Given the description of an element on the screen output the (x, y) to click on. 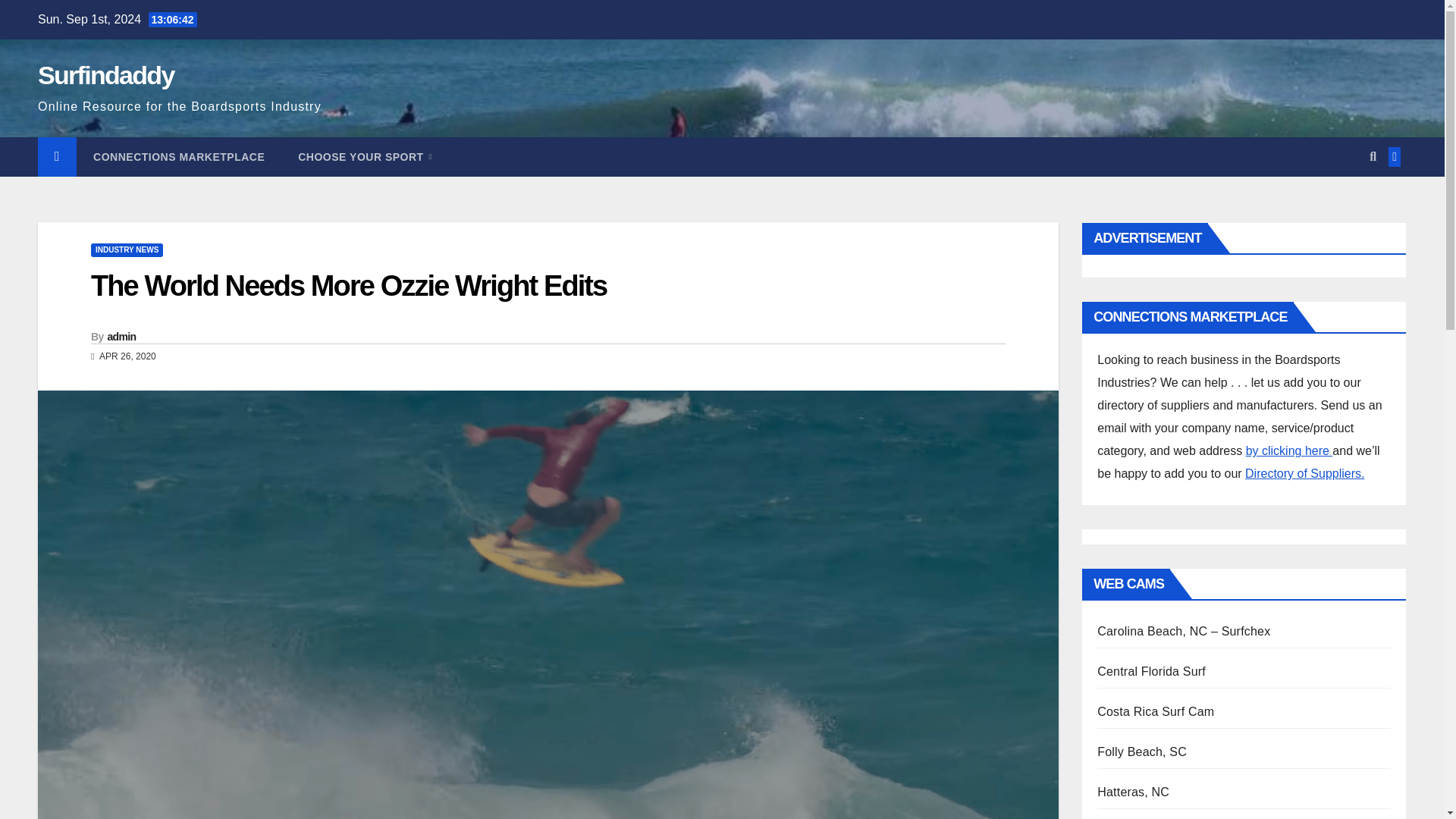
Surfindaddy (105, 74)
admin (121, 336)
CHOOSE YOUR SPORT (364, 156)
Connections Marketplace (179, 156)
The World Needs More Ozzie Wright Edits (348, 286)
Playa Hermosa de Jaco (1155, 711)
CONNECTIONS MARKETPLACE (179, 156)
Choose your Sport (364, 156)
Carolina Beach (1183, 631)
Permalink to: The World Needs More Ozzie Wright Edits (348, 286)
